Given the description of an element on the screen output the (x, y) to click on. 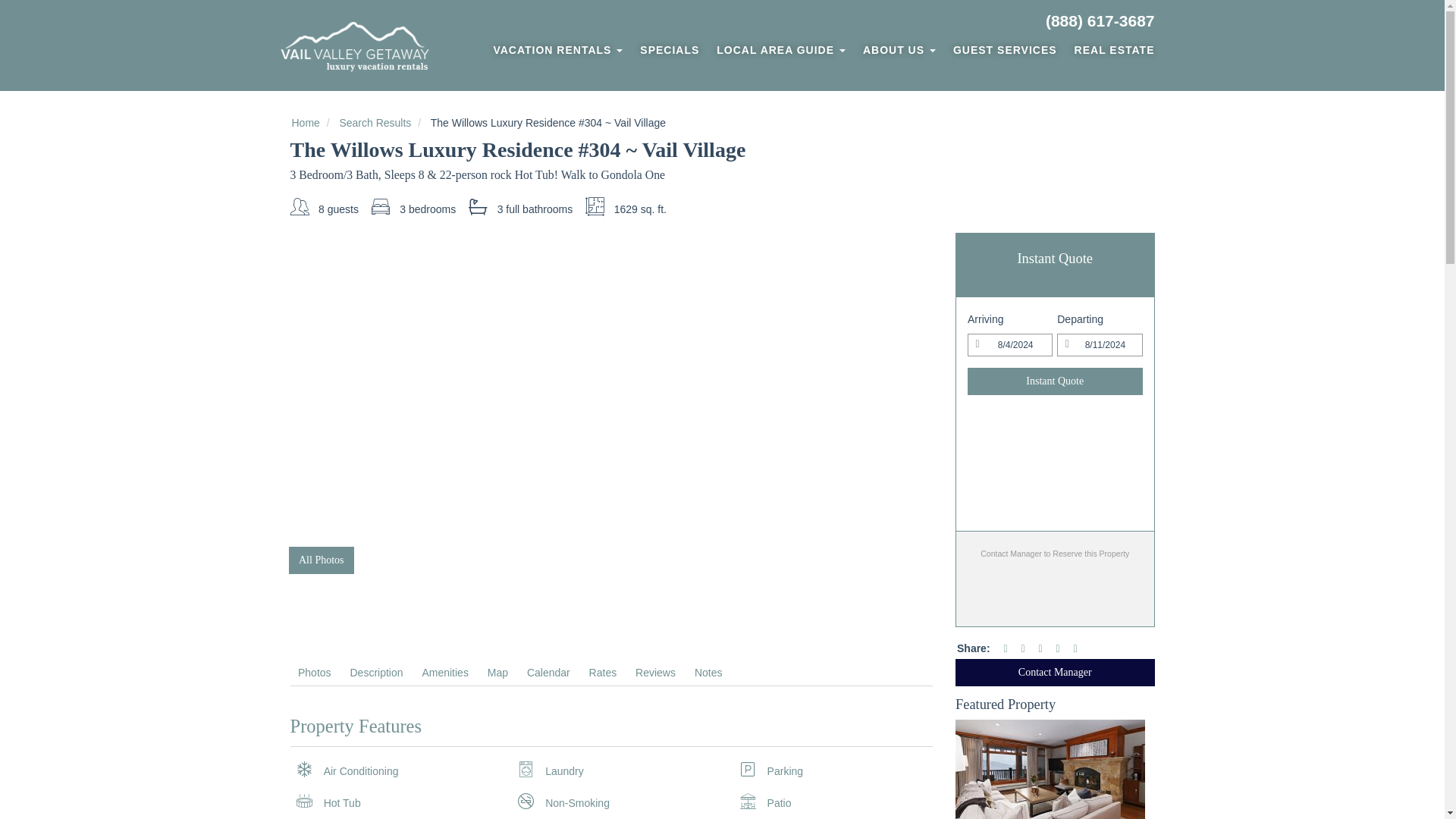
Rates (602, 672)
Notes (707, 672)
SPECIALS (669, 49)
Home (304, 122)
Map (497, 672)
VACATION RENTALS (557, 49)
Description (376, 672)
ABOUT US (898, 49)
GUEST SERVICES (1004, 49)
Search Results (374, 122)
